Given the description of an element on the screen output the (x, y) to click on. 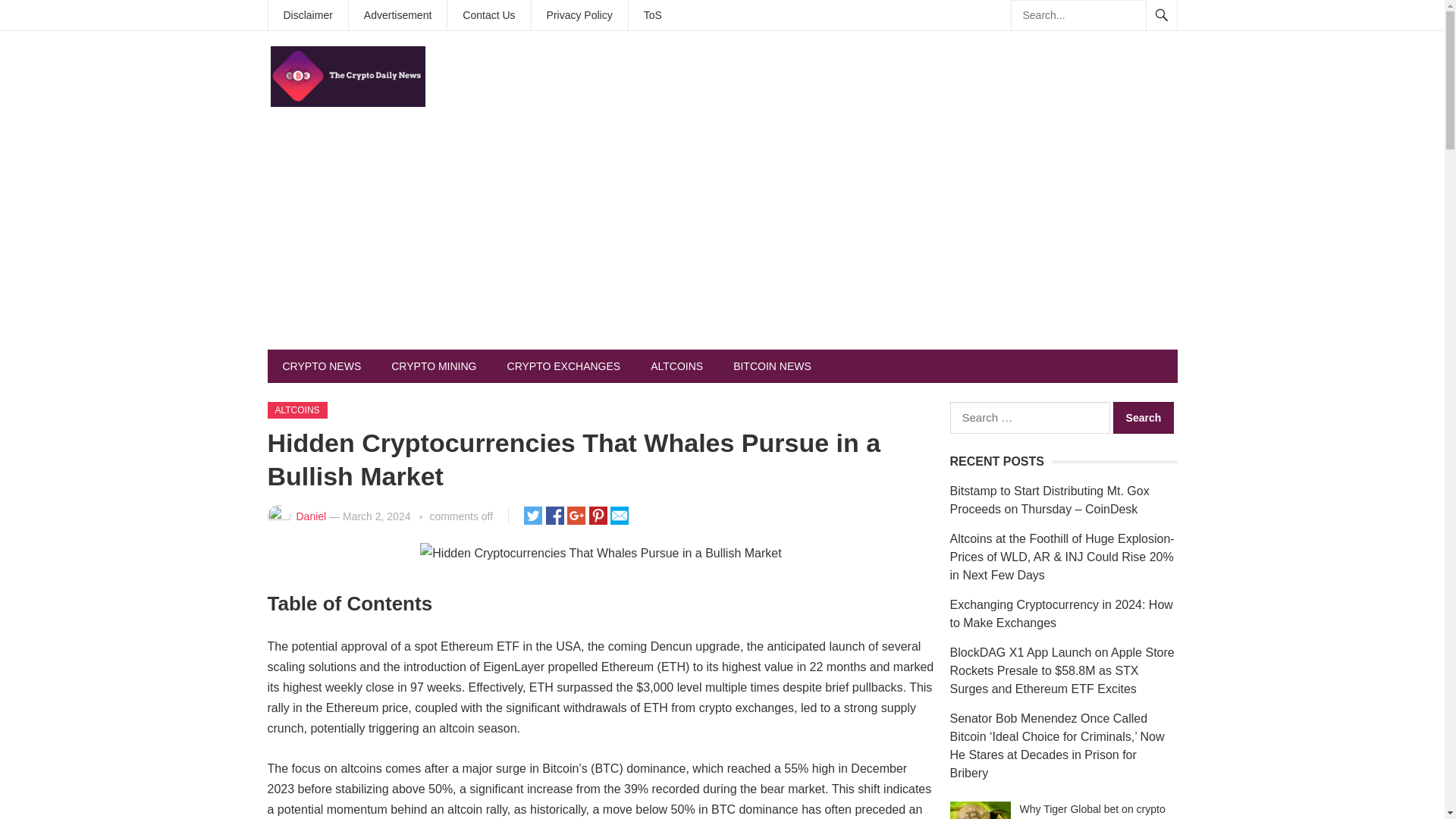
Search (1143, 418)
Why Tiger Global bet on crypto firm CoinSwitch (979, 810)
CRYPTO MINING (433, 366)
View all posts in Altcoins (296, 410)
CRYPTO EXCHANGES (564, 366)
Search (1143, 418)
ALTCOINS (675, 366)
Contact Us (487, 15)
Advertisement (397, 15)
Posts by Daniel (310, 516)
Disclaimer (307, 15)
Daniel (310, 516)
CRYPTO NEWS (320, 366)
